Given the description of an element on the screen output the (x, y) to click on. 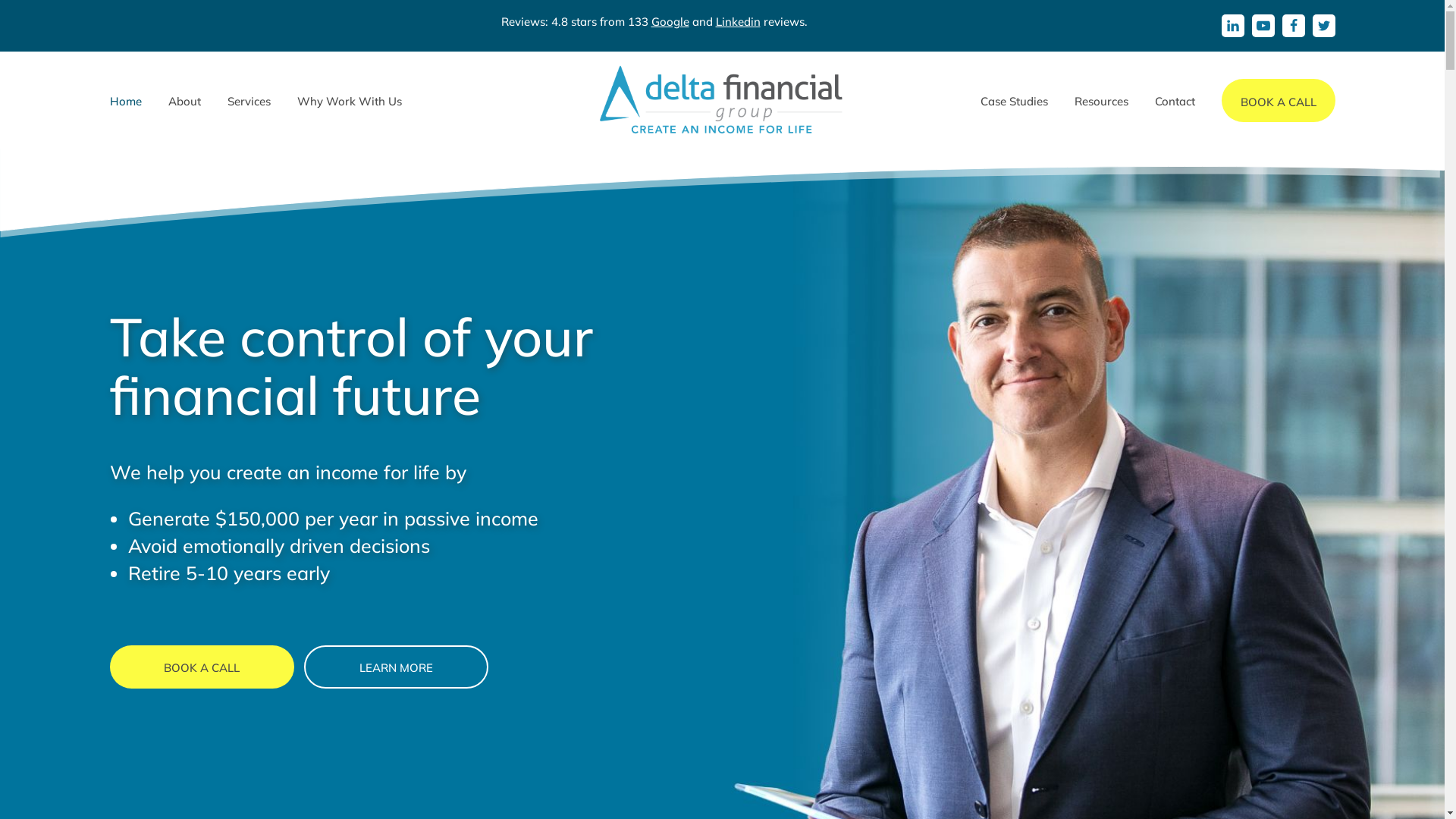
Linkedin Element type: text (737, 21)
BOOK A CALL Element type: text (1277, 100)
Why Work With Us Element type: text (349, 101)
Google Element type: text (669, 21)
About Element type: text (184, 101)
Resources Element type: text (1100, 101)
Case Studies Element type: text (1013, 101)
Services Element type: text (248, 101)
Contact Element type: text (1174, 101)
LEARN MORE Element type: text (395, 666)
Home Element type: text (125, 101)
BOOK A CALL Element type: text (201, 666)
